Given the description of an element on the screen output the (x, y) to click on. 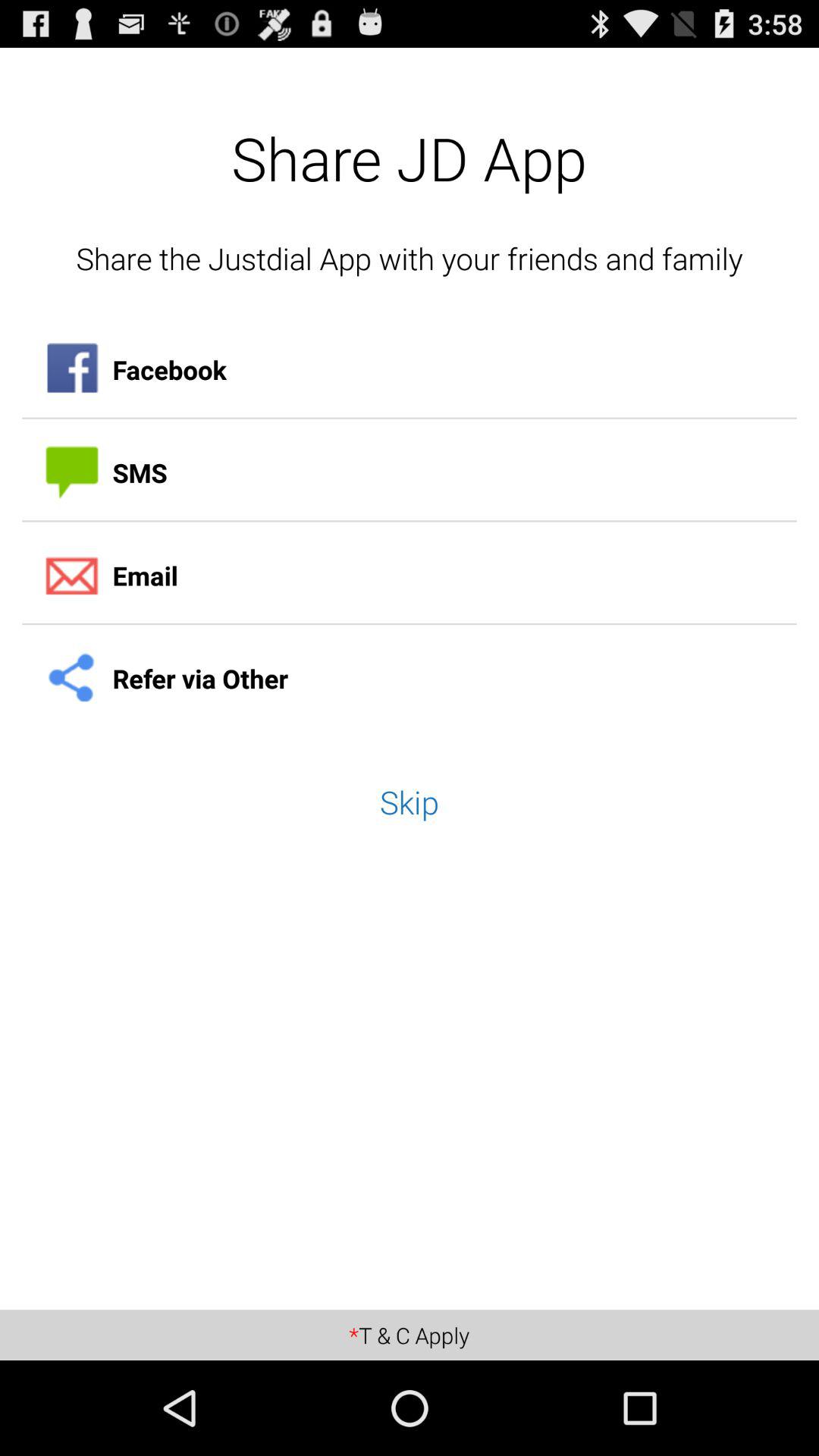
press refer via other button (409, 678)
